Given the description of an element on the screen output the (x, y) to click on. 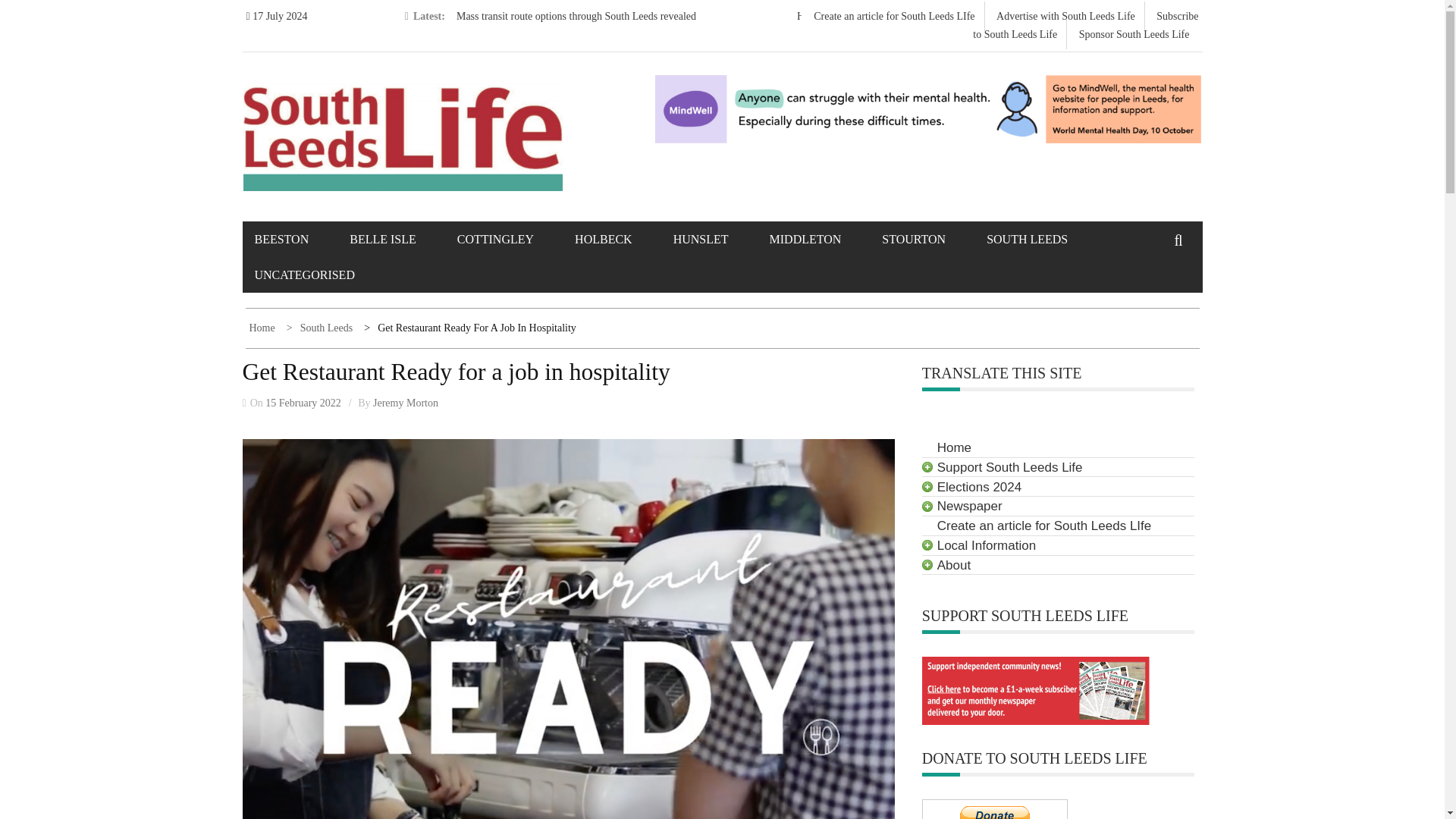
BEESTON (300, 239)
HUNSLET (719, 239)
Mass transit route options through South Leeds revealed (576, 16)
Advertise with South Leeds Life (1065, 16)
MIDDLETON (824, 239)
SOUTH LEEDS (1046, 239)
HOLBECK (622, 239)
15 February 2022 (302, 402)
South Leeds (321, 327)
BELLE ISLE (401, 239)
Sponsor South Leeds Life (1133, 34)
STOURTON (933, 239)
Hunslet calm Thunder in the rain (866, 16)
Create an article for South Leeds LIfe (893, 16)
Home (263, 327)
